Given the description of an element on the screen output the (x, y) to click on. 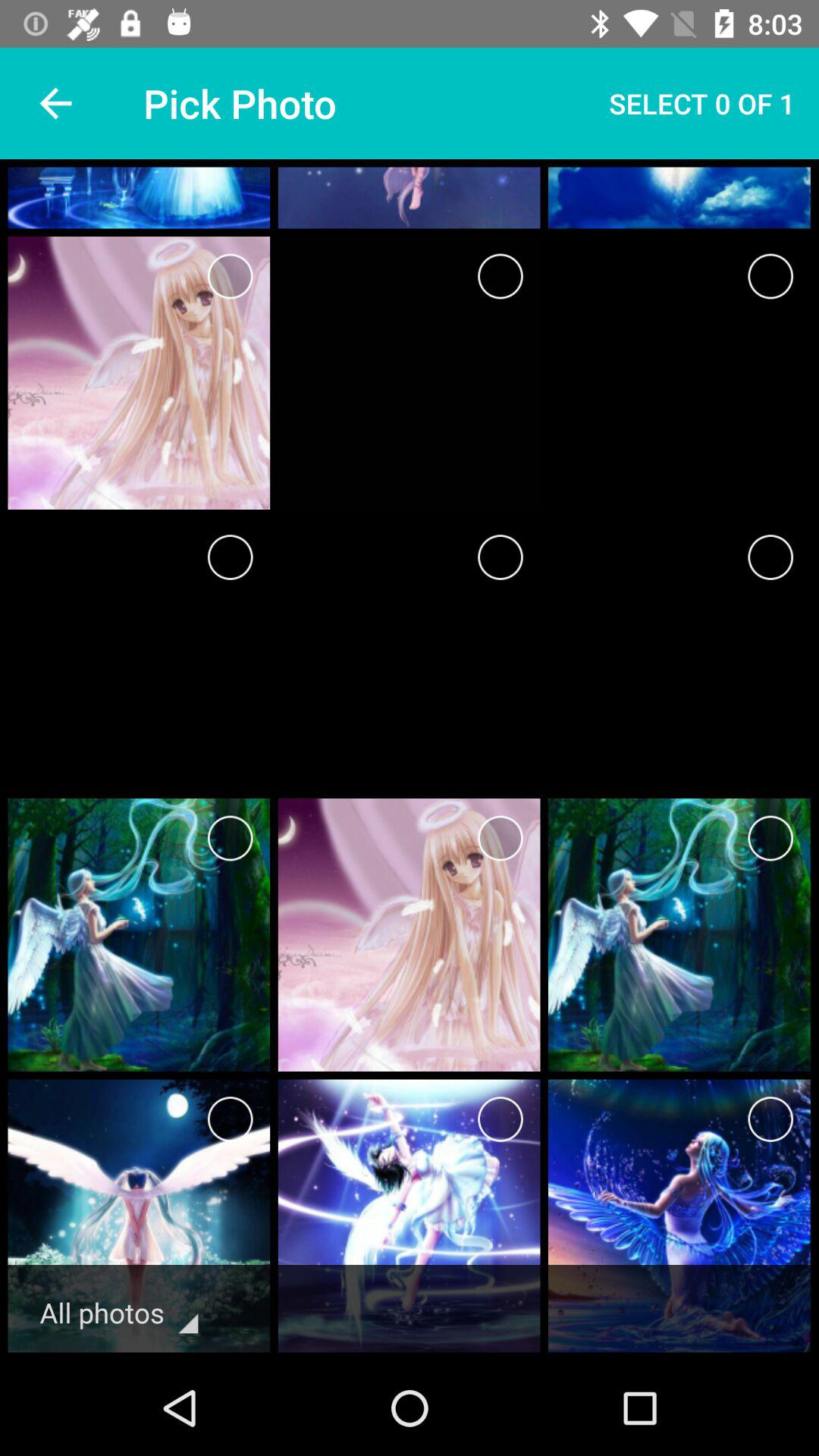
select image (770, 557)
